Given the description of an element on the screen output the (x, y) to click on. 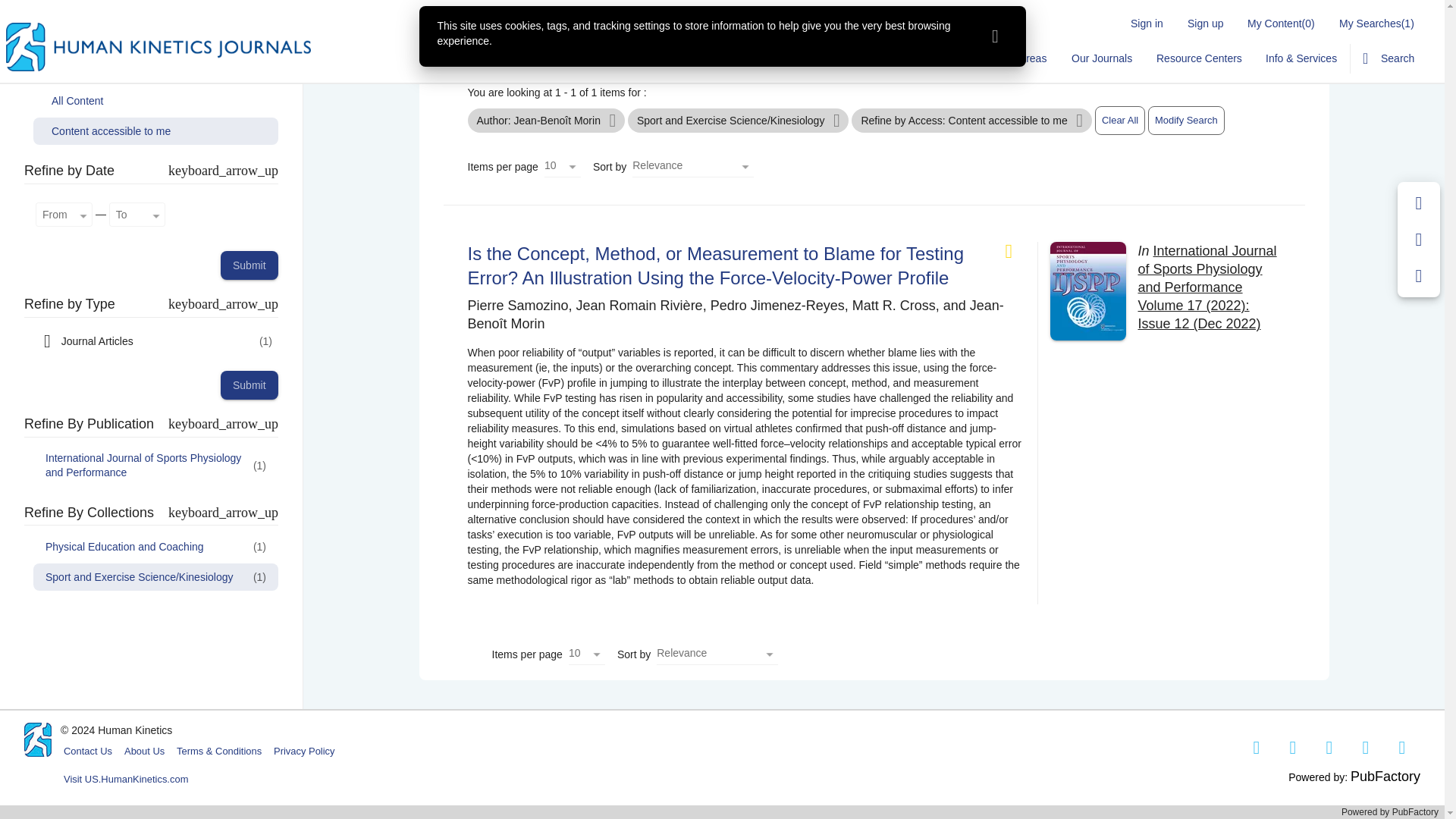
Open access (1015, 251)
Browse (799, 58)
Sign in (1146, 23)
About Us (863, 58)
Save (1418, 203)
Subscribe (933, 58)
Home (743, 58)
Privacy Policy (303, 750)
Facebook (1257, 747)
Our Journals (1100, 58)
Sign up (1204, 23)
Subject Areas (1013, 58)
Visit US.HumanKinetics.com (125, 779)
Sign up (1204, 23)
About Us (143, 750)
